Given the description of an element on the screen output the (x, y) to click on. 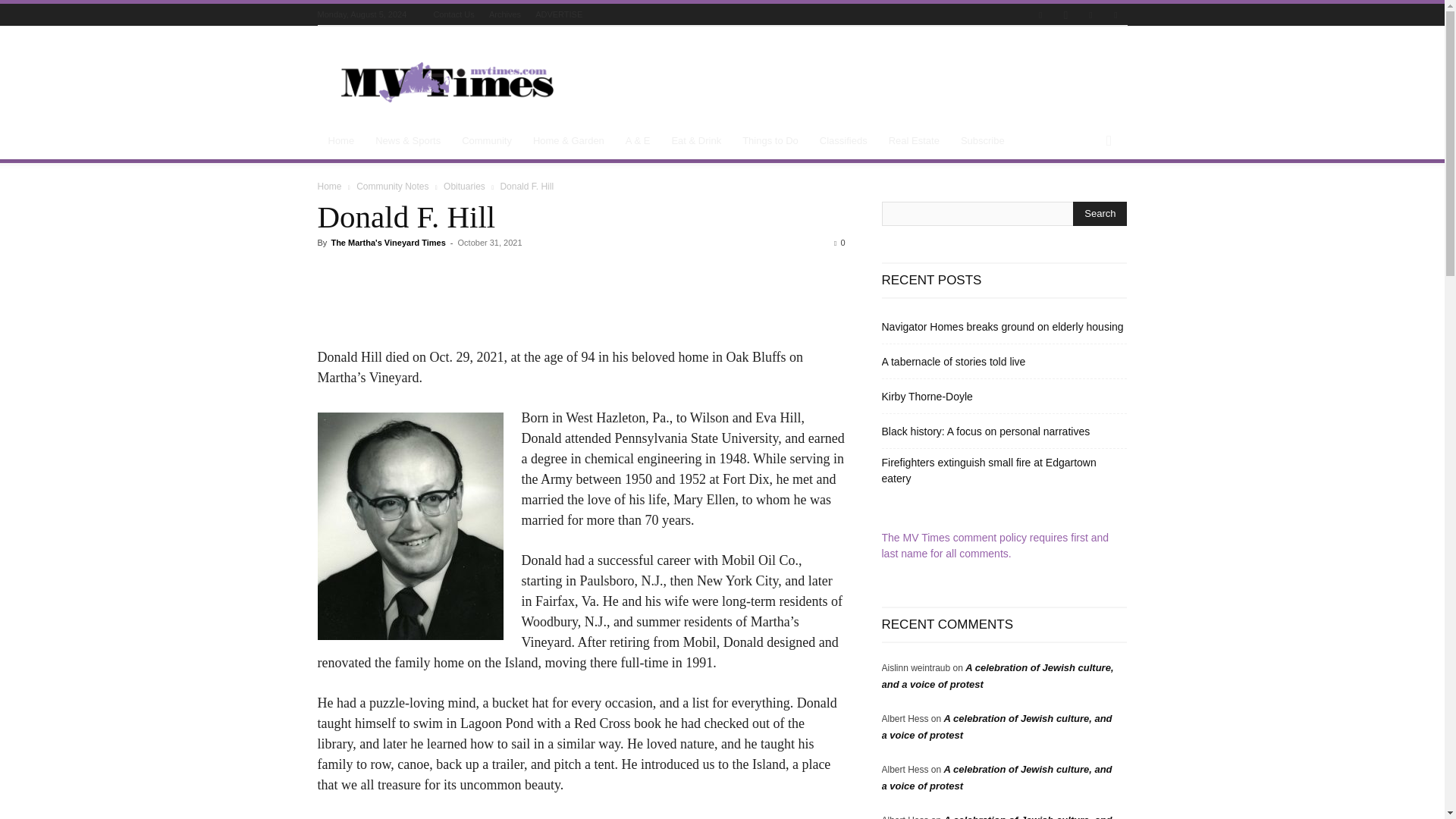
View all posts in Obituaries (464, 185)
Classifieds (843, 140)
Community (486, 140)
Contact Us (453, 13)
Twitter (1090, 14)
View all posts in Community Notes (392, 185)
Subscribe (982, 140)
ADVERTISE (558, 13)
Instagram (1065, 14)
Home (341, 140)
Archives (505, 13)
Real Estate (913, 140)
Search (1099, 213)
Things to Do (770, 140)
Youtube (1114, 14)
